Given the description of an element on the screen output the (x, y) to click on. 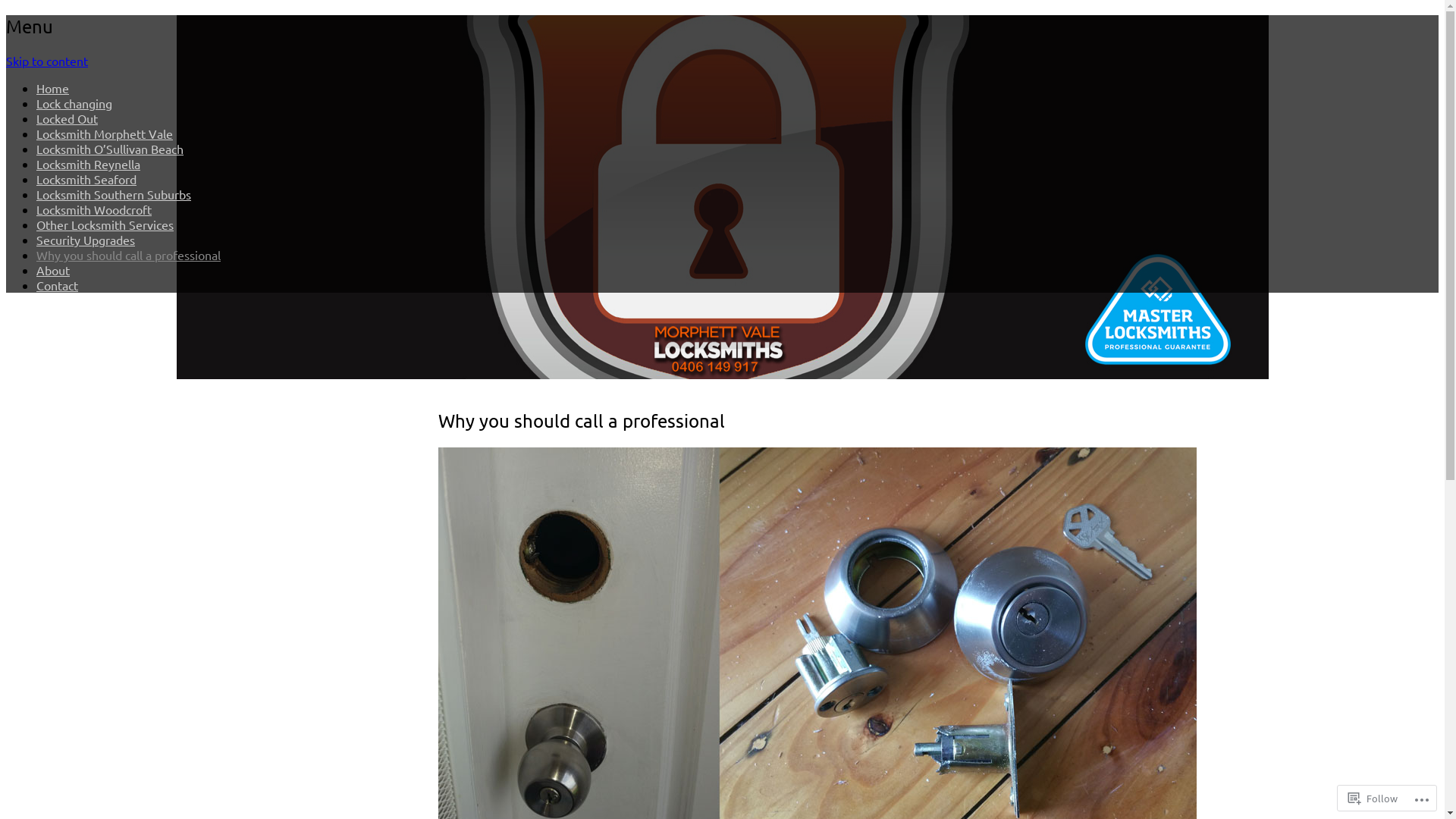
Home Element type: text (52, 87)
Locksmith Morphett Vale Element type: text (104, 133)
Why you should call a professional Element type: text (128, 254)
Locksmith Southern Suburbs Element type: text (113, 193)
About Element type: text (52, 269)
Security Upgrades Element type: text (85, 239)
Other Locksmith Services Element type: text (104, 224)
Locksmith Reynella Element type: text (88, 163)
Locked Out Element type: text (66, 117)
Locksmith Woodcroft Element type: text (93, 208)
Lock changing Element type: text (74, 102)
Follow Element type: text (1372, 797)
Locksmith Seaford Element type: text (86, 178)
Skip to content Element type: text (46, 60)
Contact Element type: text (57, 284)
